Given the description of an element on the screen output the (x, y) to click on. 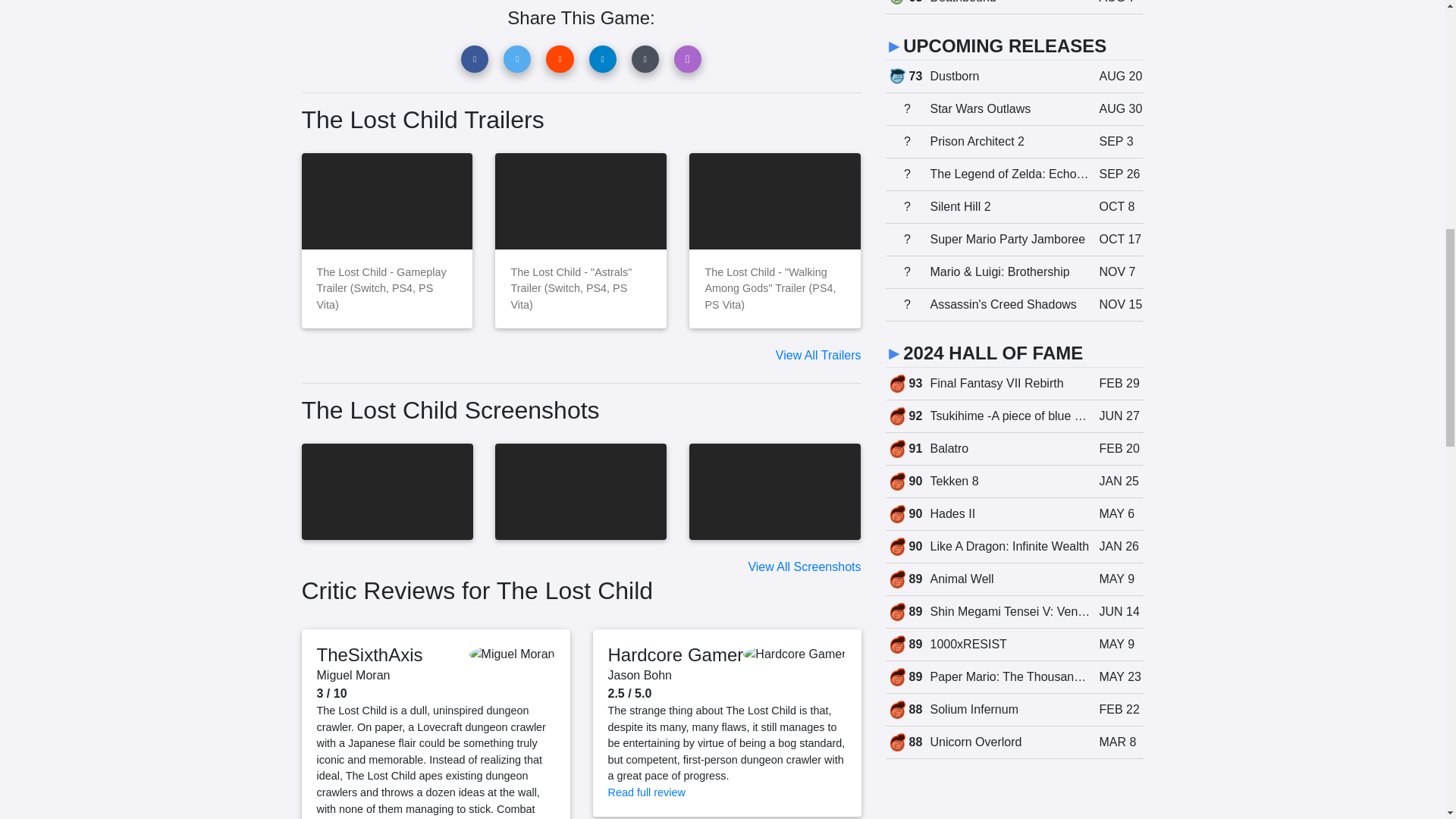
Hardcore Gamer (676, 654)
View All Trailers (818, 354)
Miguel Moran (353, 675)
View All Screenshots (804, 566)
Jason Bohn (640, 675)
TheSixthAxis (370, 654)
Read full review (646, 792)
